Given the description of an element on the screen output the (x, y) to click on. 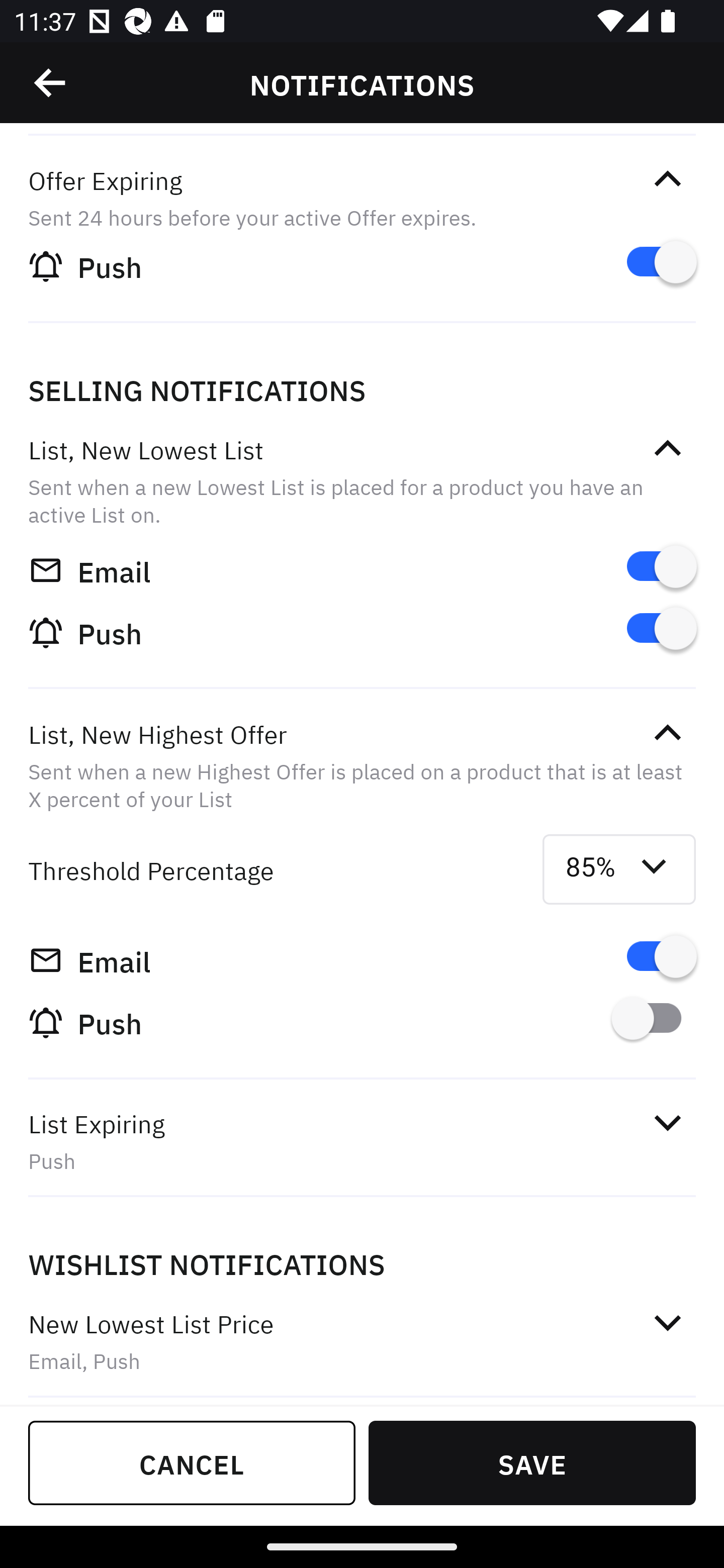
 (50, 83)
 (667, 179)
 (667, 448)
 (667, 732)
85%  (619, 869)
List Expiring  Push (361, 1141)
 (667, 1122)
New Lowest List Price  Email, Push (361, 1341)
 (667, 1322)
CANCEL (191, 1462)
SAVE (531, 1462)
